Given the description of an element on the screen output the (x, y) to click on. 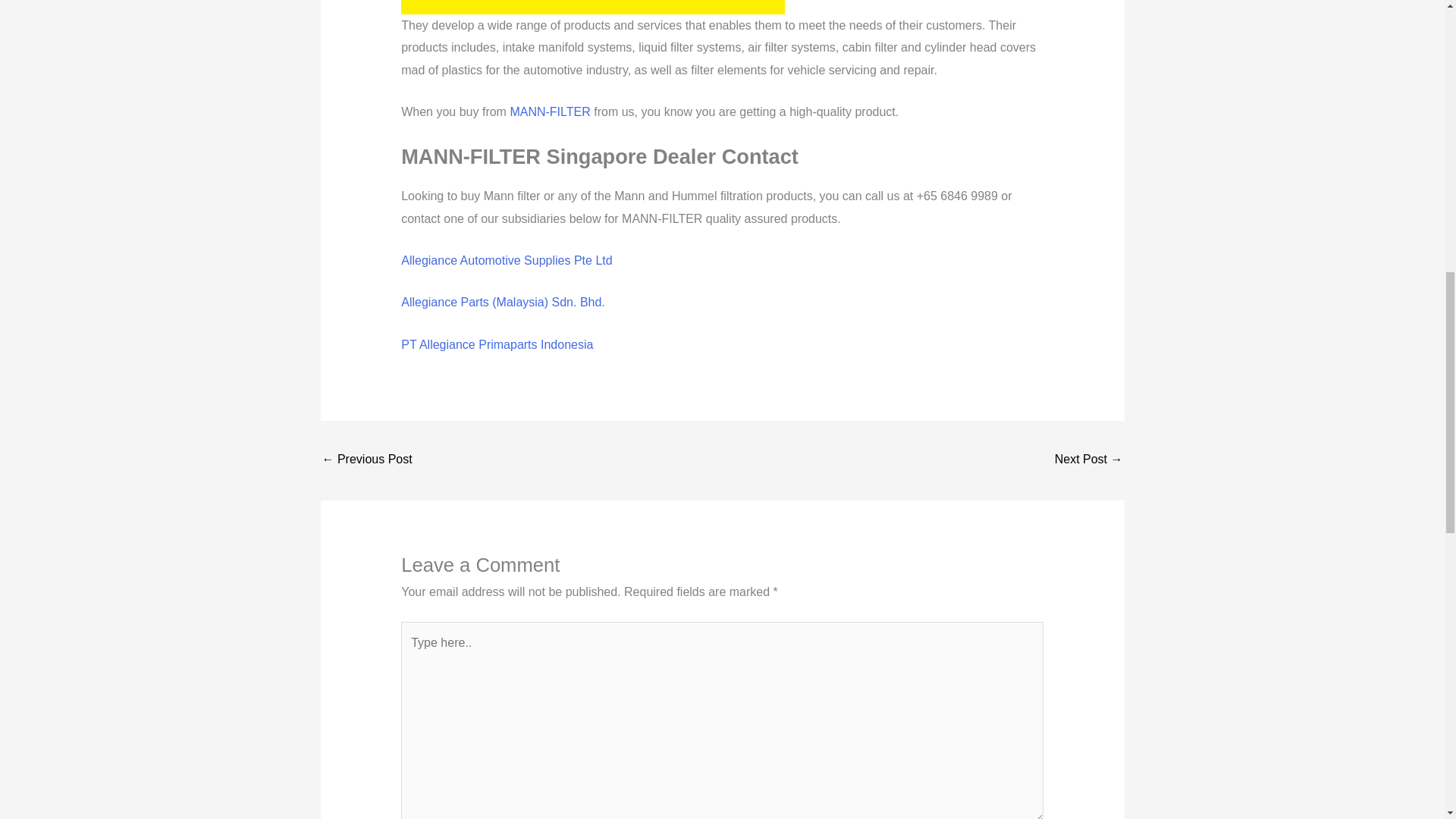
Allegiance Automotive Supplies Pte Ltd (506, 259)
Mahle Engine Parts Singapore Dealer (1088, 460)
MANN-FILTER (549, 111)
PT Allegiance Primaparts Indonesia (496, 344)
FAG Bearings Singapore Dealer (366, 460)
